Given the description of an element on the screen output the (x, y) to click on. 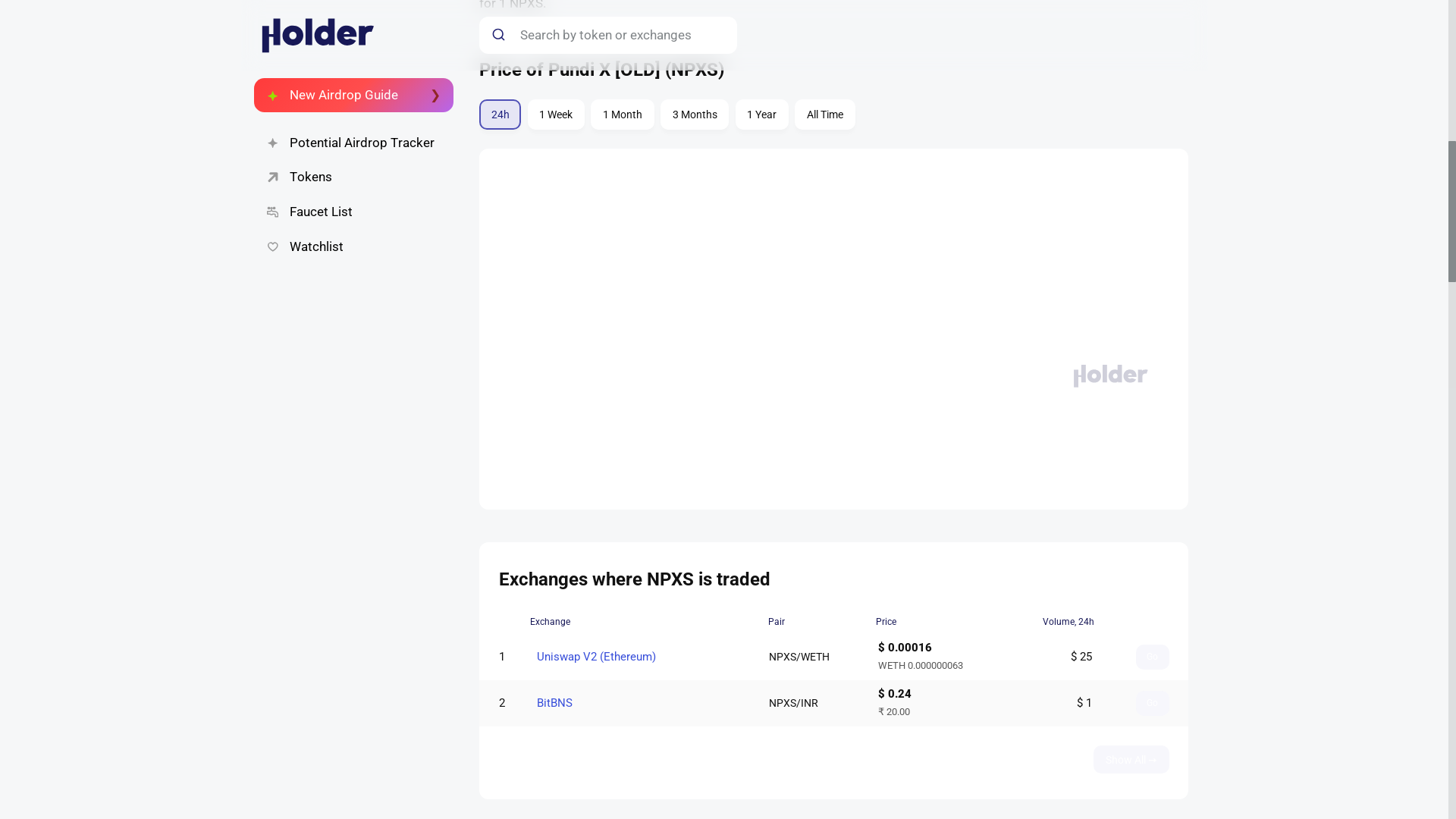
Go (1152, 656)
Go (1152, 703)
1 Month (833, 117)
BitBNS (622, 113)
1 Year (551, 703)
All Time (762, 113)
1 Week (824, 113)
3 Months (556, 113)
24h (695, 113)
